Given the description of an element on the screen output the (x, y) to click on. 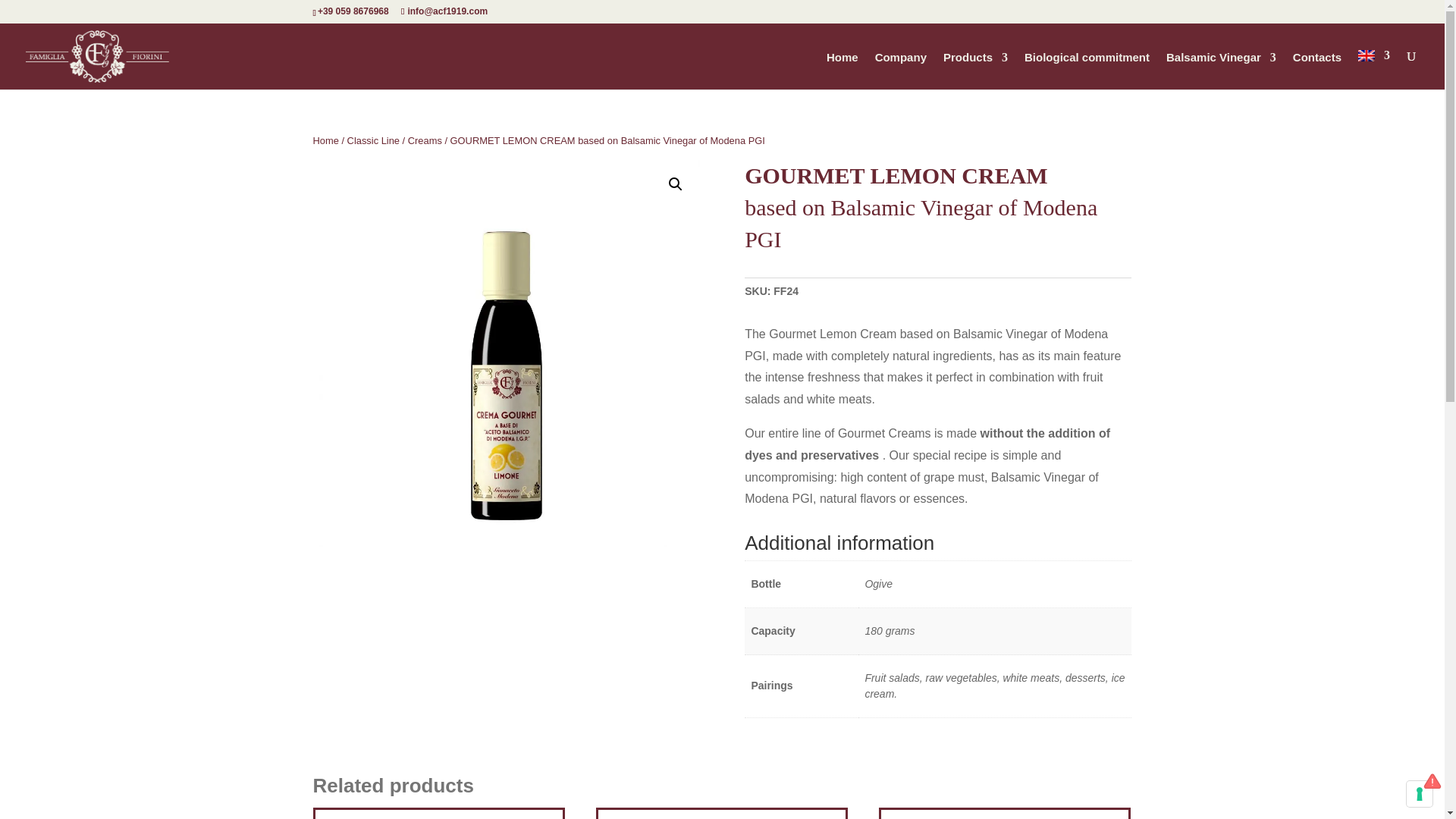
Products (975, 70)
Contacts (1316, 70)
Balsamic Vinegar (1221, 70)
Company (900, 70)
Biological commitment (1087, 70)
